Given the description of an element on the screen output the (x, y) to click on. 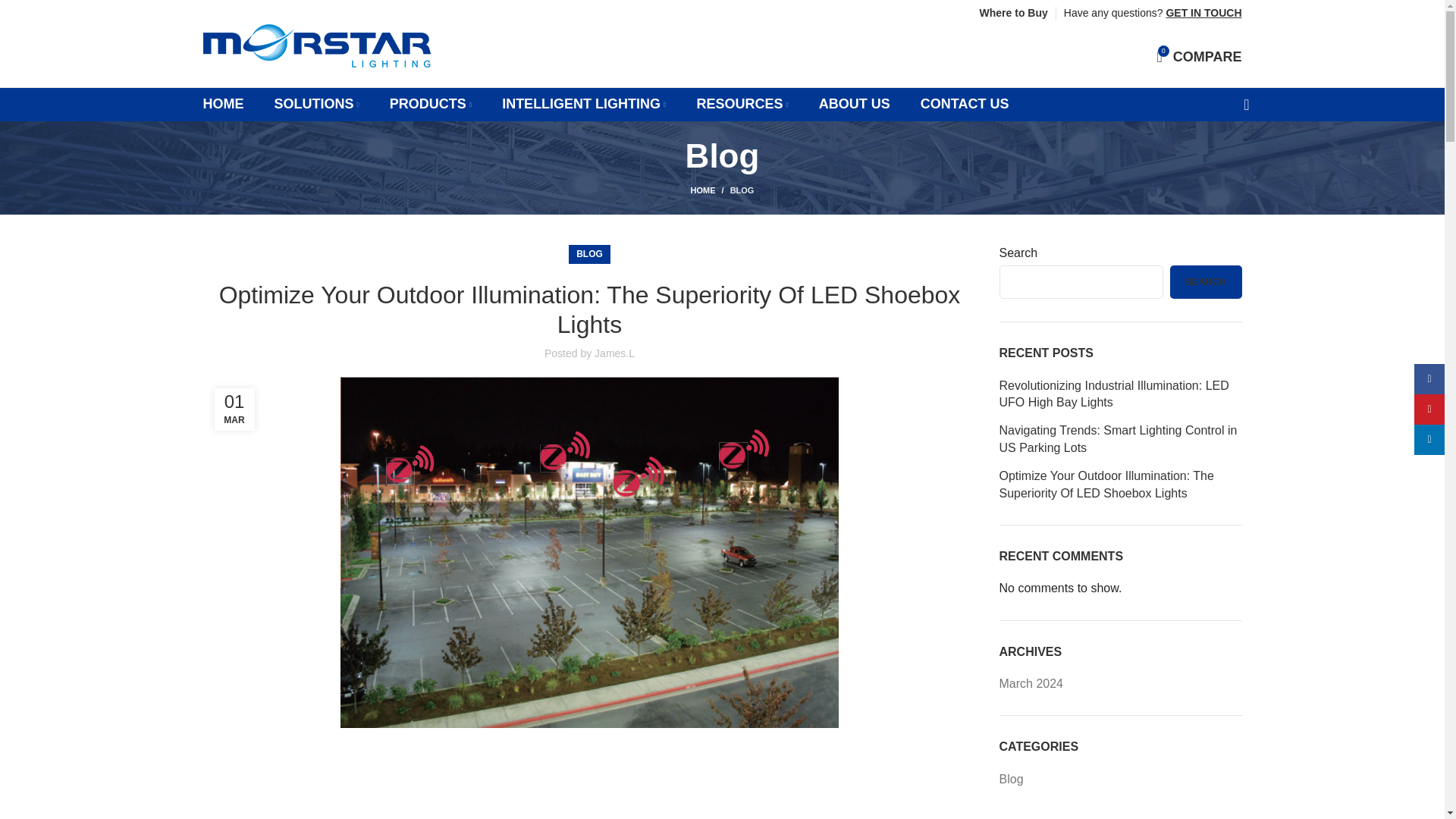
GET IN TOUCH (1203, 12)
INTELLIGENT LIGHTING (583, 104)
Compare products (1199, 56)
Search (1241, 104)
PRODUCTS (430, 104)
SOLUTIONS (1199, 56)
Search for products (317, 104)
HOME (741, 104)
Where to Buy (223, 104)
